Given the description of an element on the screen output the (x, y) to click on. 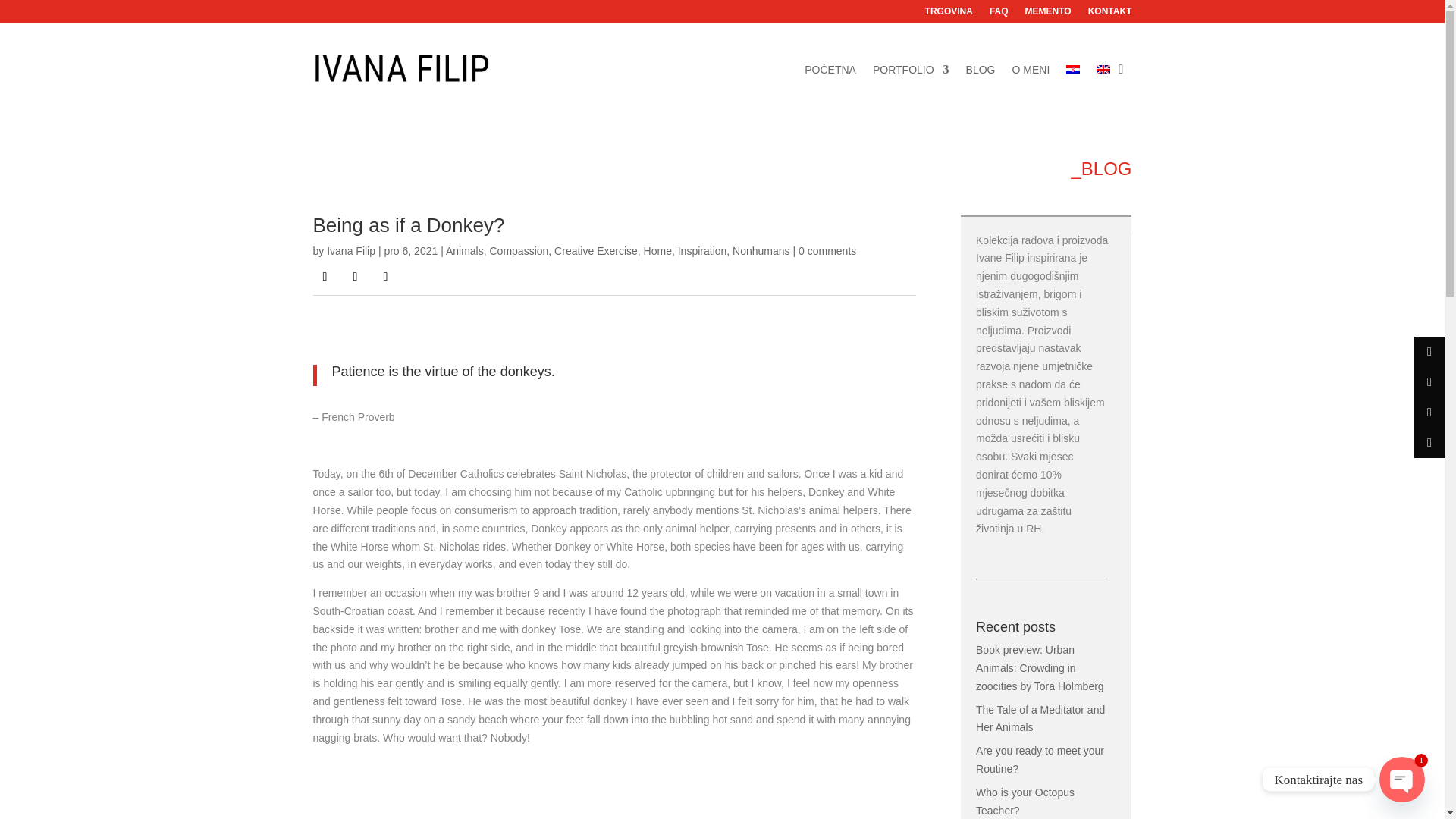
FAQ (999, 13)
Follow on Instagram (354, 276)
Ivana Filip (350, 250)
TRGOVINA (948, 13)
Follow on Youtube (384, 276)
Posts by Ivana Filip (350, 250)
PORTFOLIO (910, 68)
Follow on Facebook (324, 276)
MEMENTO (1048, 13)
Animals (464, 250)
